Given the description of an element on the screen output the (x, y) to click on. 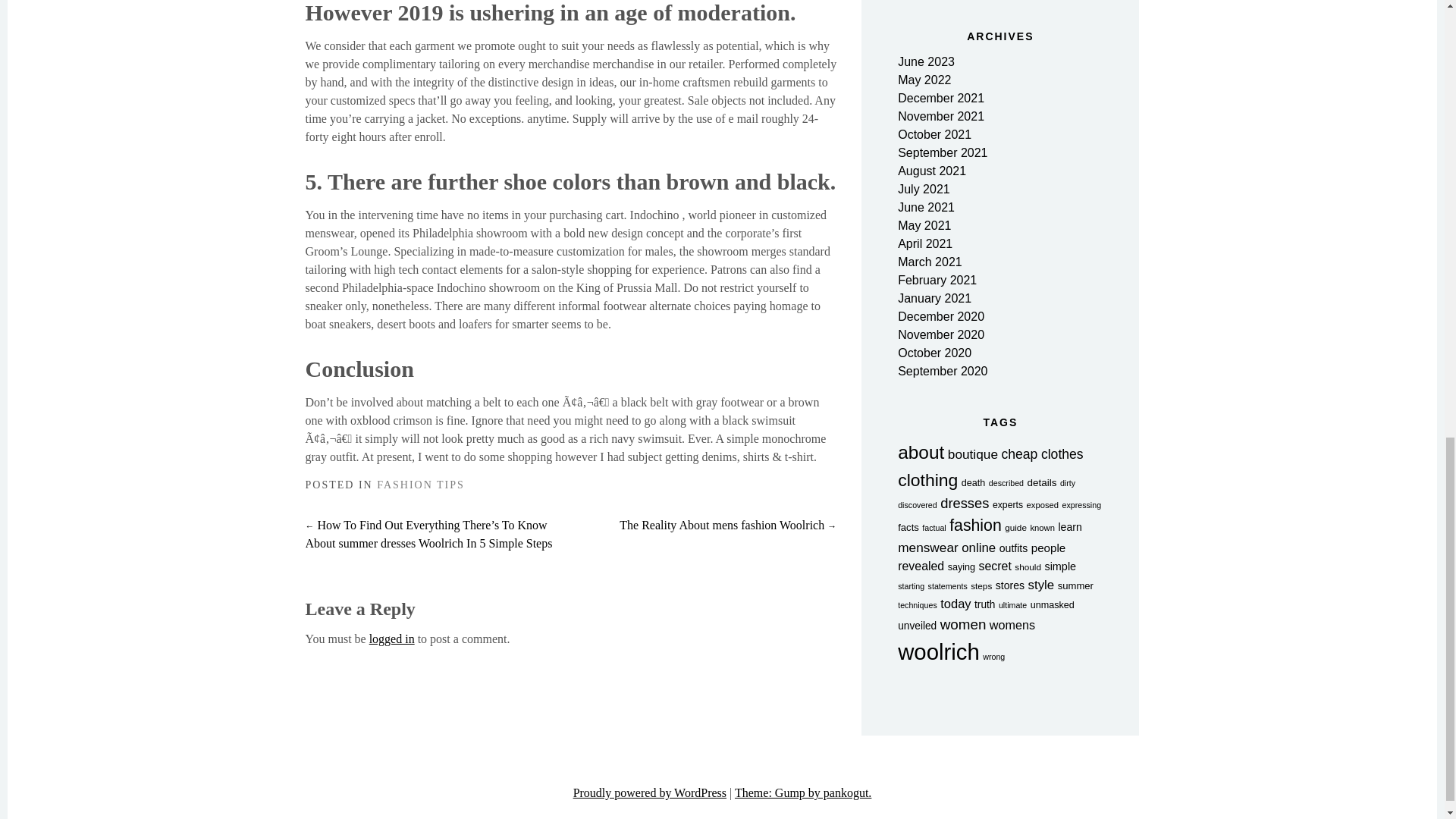
September 2021 (942, 152)
December 2021 (941, 97)
June 2023 (926, 61)
May 2022 (924, 79)
October 2021 (934, 133)
August 2021 (932, 170)
November 2021 (941, 115)
logged in (391, 638)
July 2021 (924, 188)
FASHION TIPS (420, 484)
